Given the description of an element on the screen output the (x, y) to click on. 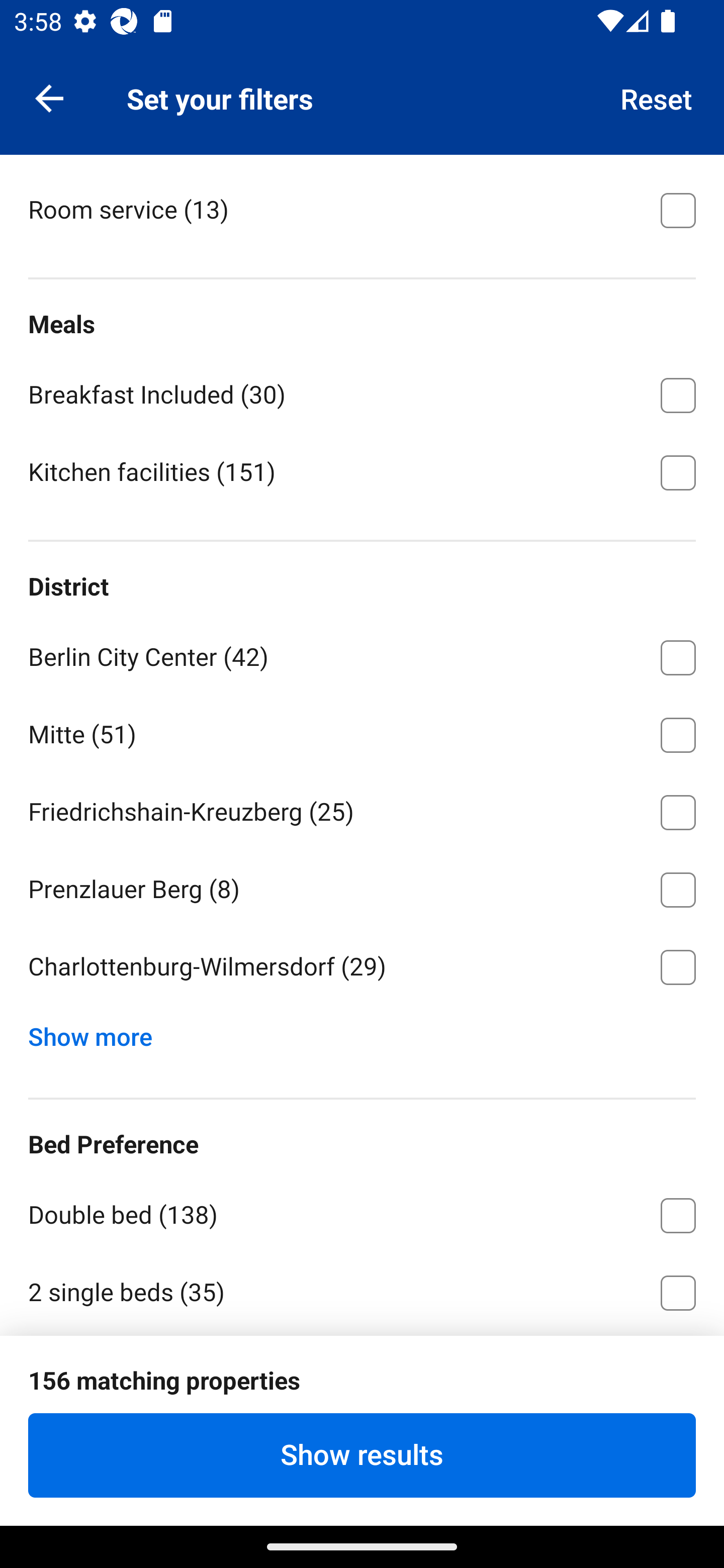
Navigate up (49, 97)
Reset (656, 97)
Room service ⁦(13) (361, 208)
Breakfast Included ⁦(30) (361, 391)
Kitchen facilities ⁦(151) (361, 471)
Berlin City Center ⁦(42) (361, 654)
Mitte ⁦(51) (361, 731)
Friedrichshain-Kreuzberg ⁦(25) (361, 808)
Prenzlauer Berg ⁦(8) (361, 886)
Charlottenburg-Wilmersdorf ⁦(29) (361, 967)
Show more (97, 1032)
Double bed ⁦(138) (361, 1211)
2 single beds ⁦(35) (361, 1291)
Show results (361, 1454)
